Given the description of an element on the screen output the (x, y) to click on. 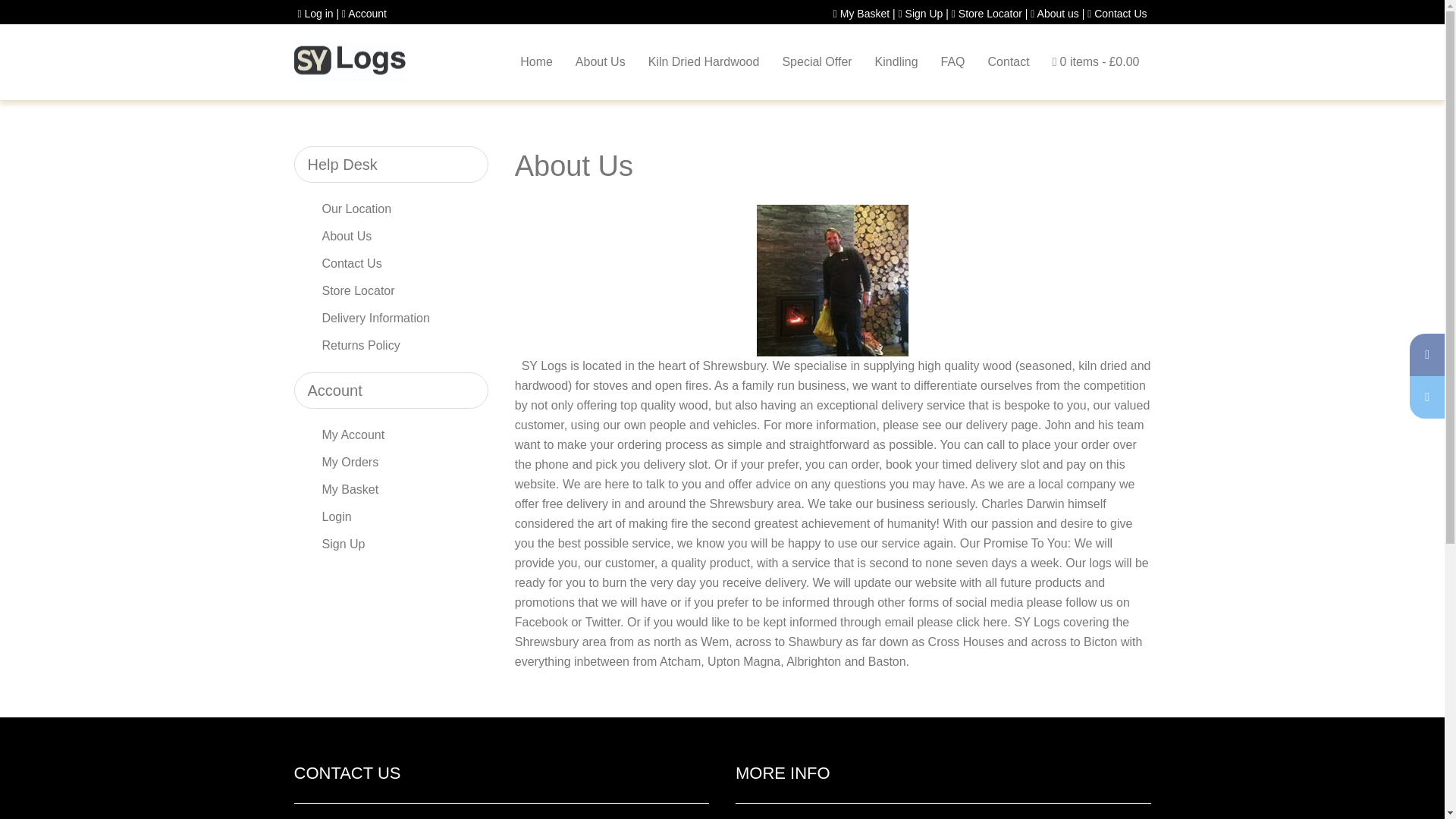
Delivery Information (389, 318)
My Orders (389, 461)
 About us (1054, 13)
Kiln Dried Hardwood (704, 61)
 My Basket (860, 13)
 Log in (315, 13)
Start shopping (1096, 61)
Returns Policy (389, 345)
  Account (363, 13)
 Contact Us (1117, 13)
